Given the description of an element on the screen output the (x, y) to click on. 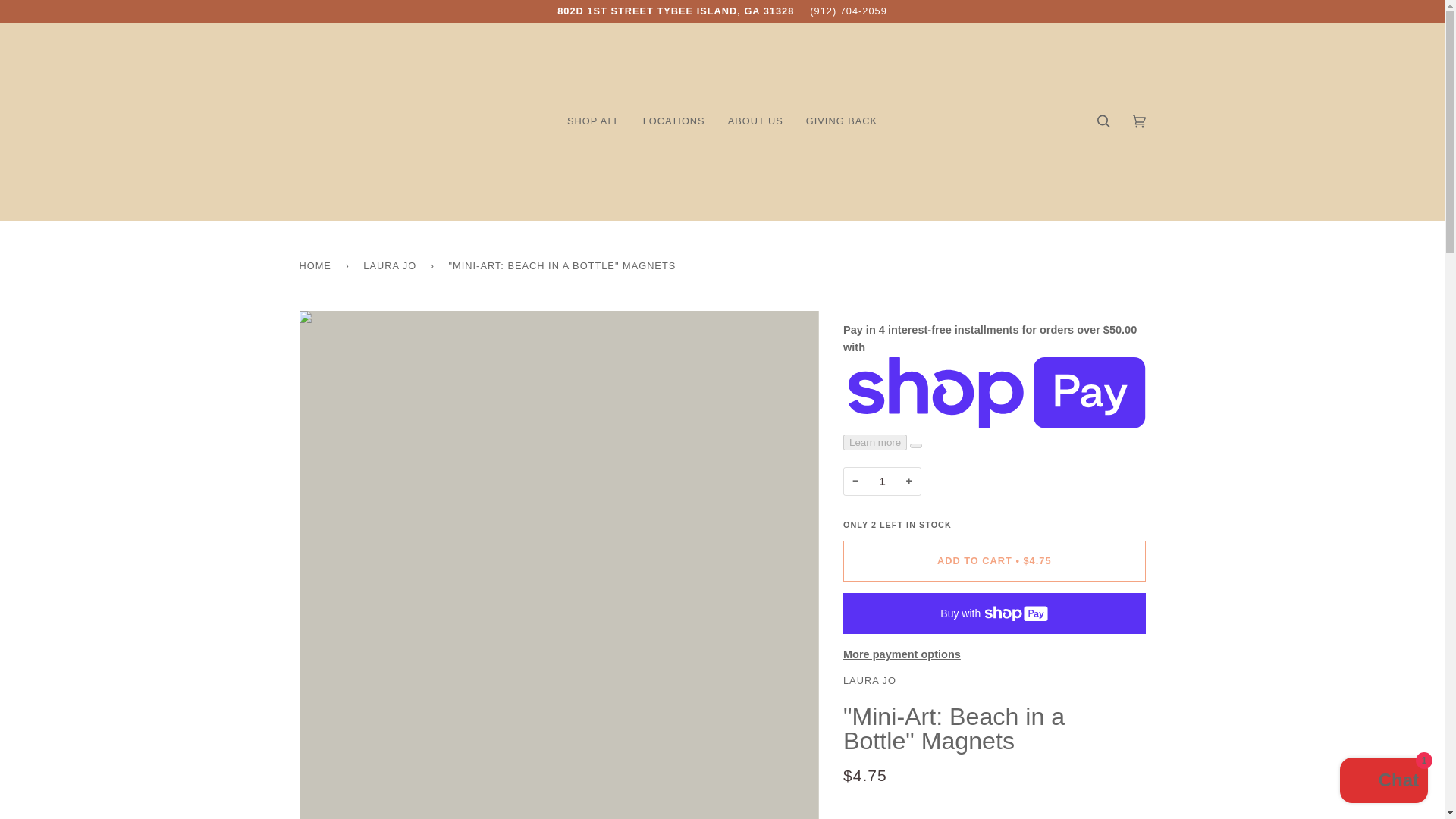
Back to the frontpage (317, 266)
Shopify online store chat (1383, 781)
1 (882, 481)
